Given the description of an element on the screen output the (x, y) to click on. 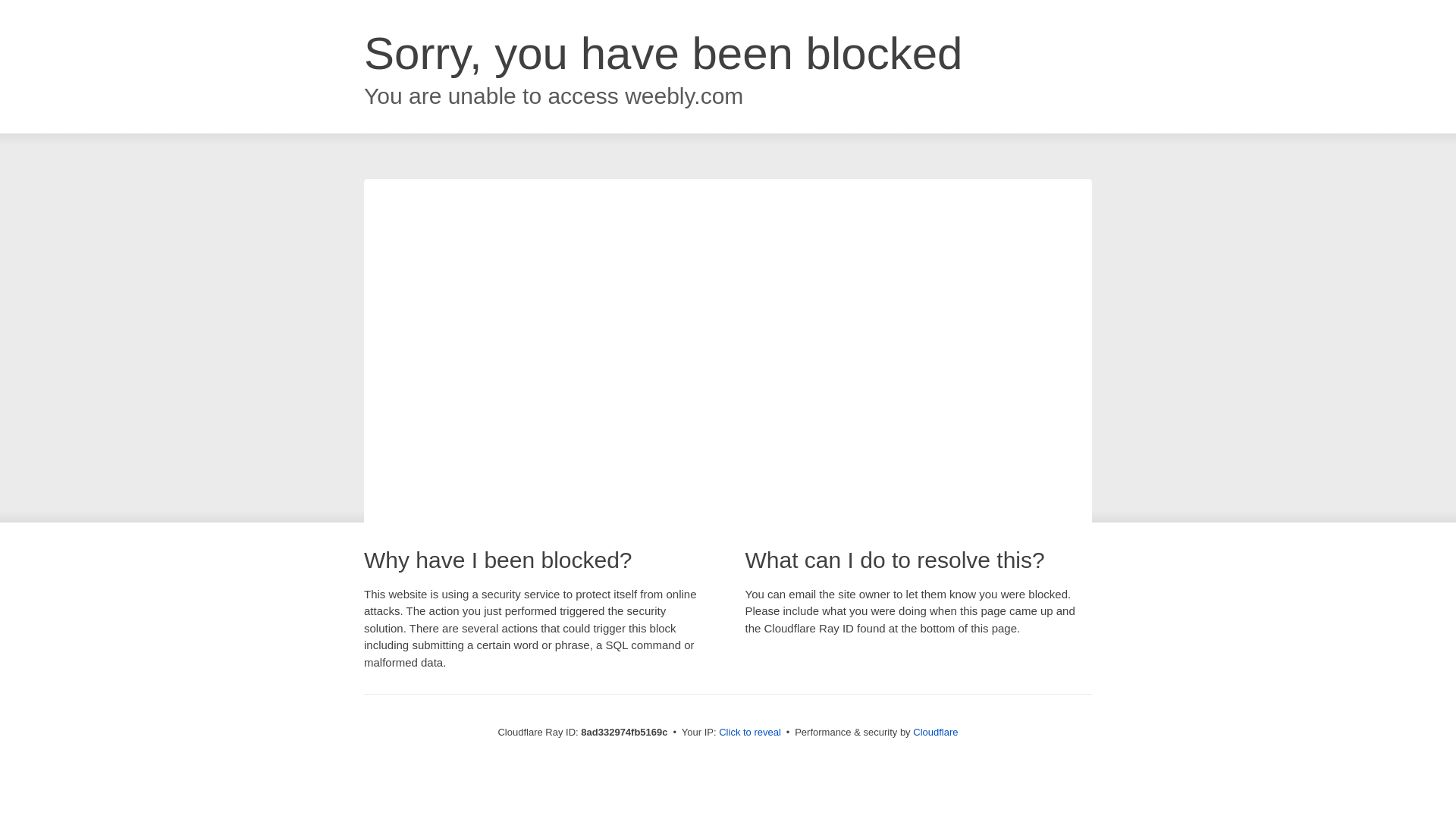
Click to reveal (749, 732)
Cloudflare (935, 731)
